Given the description of an element on the screen output the (x, y) to click on. 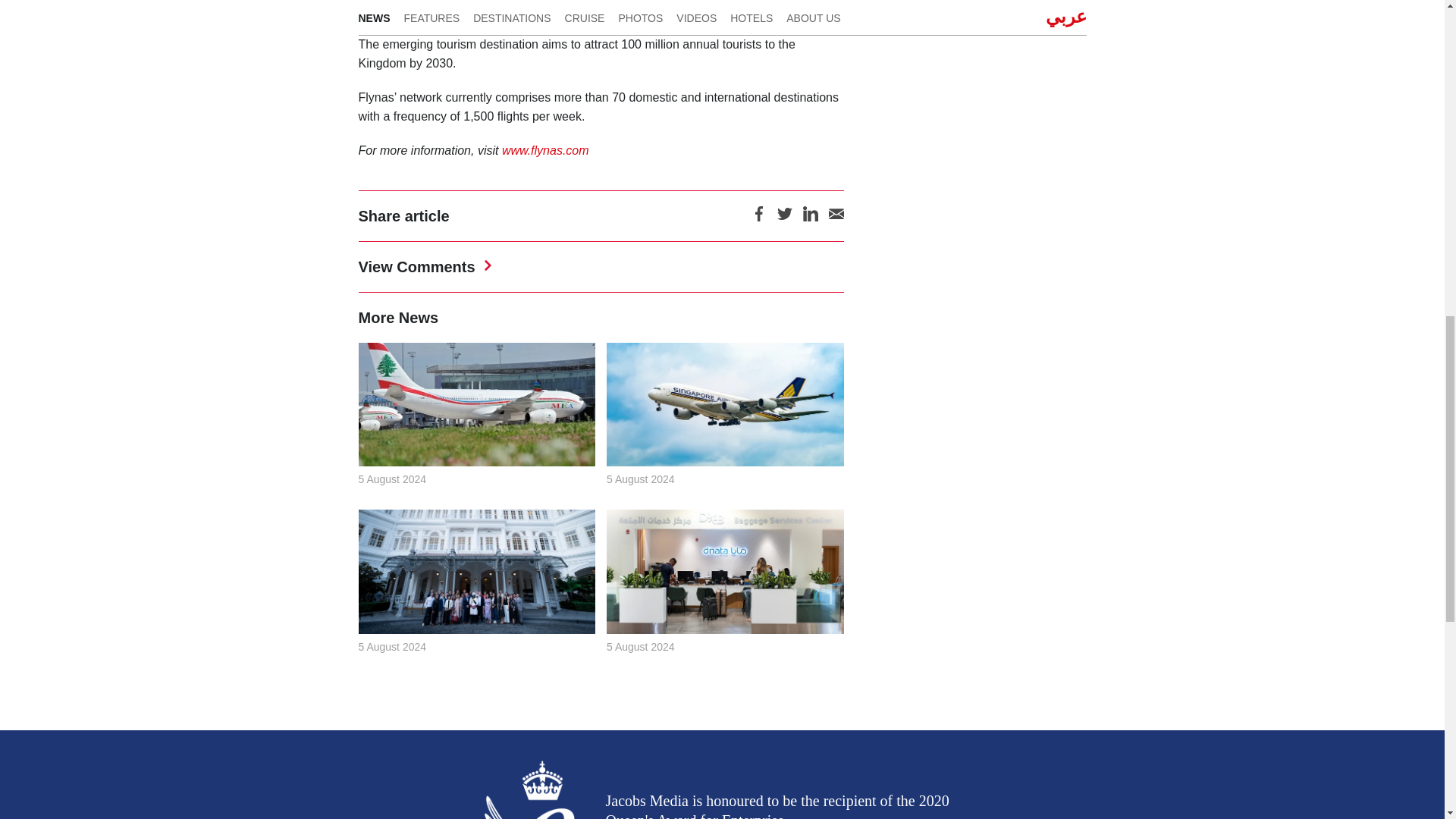
Share on Facebook (758, 218)
Share on LinkedIn (809, 218)
Share on Twitter (784, 218)
Share by email (835, 218)
